Given the description of an element on the screen output the (x, y) to click on. 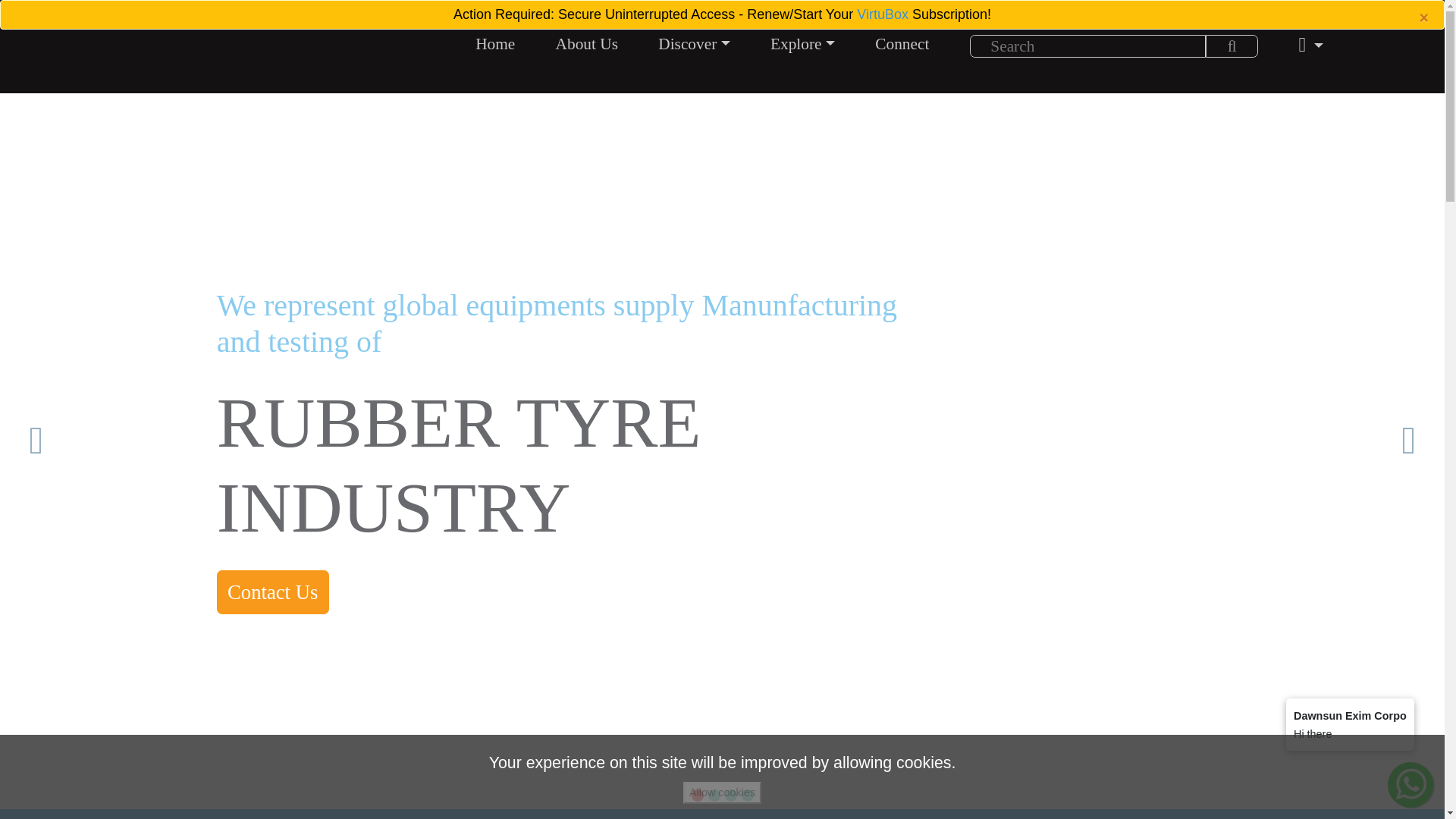
About Us (587, 44)
Home (494, 44)
VirtuBox (882, 14)
Discover (695, 44)
